Given the description of an element on the screen output the (x, y) to click on. 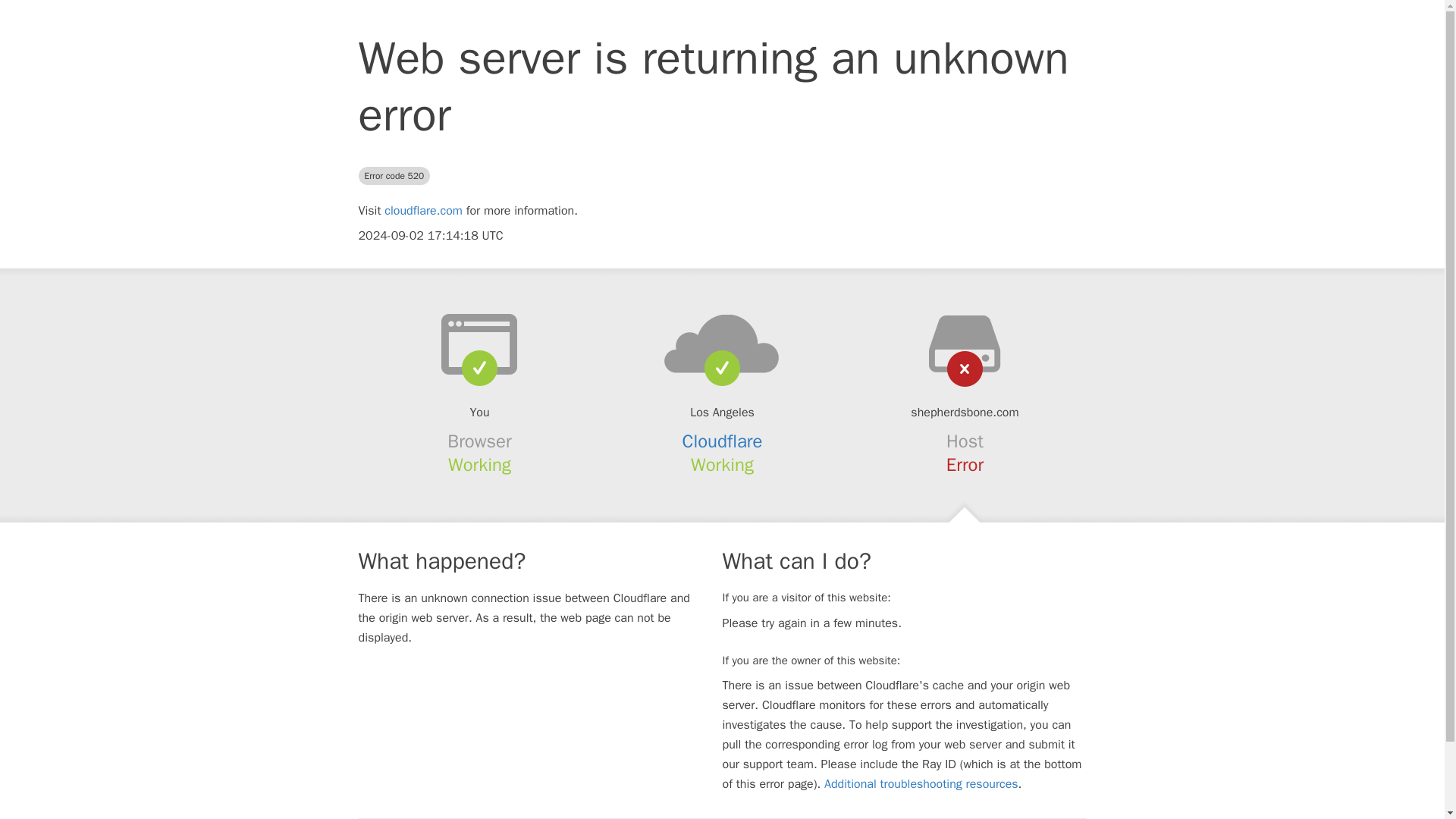
Cloudflare (722, 440)
Additional troubleshooting resources (920, 783)
cloudflare.com (423, 210)
